Given the description of an element on the screen output the (x, y) to click on. 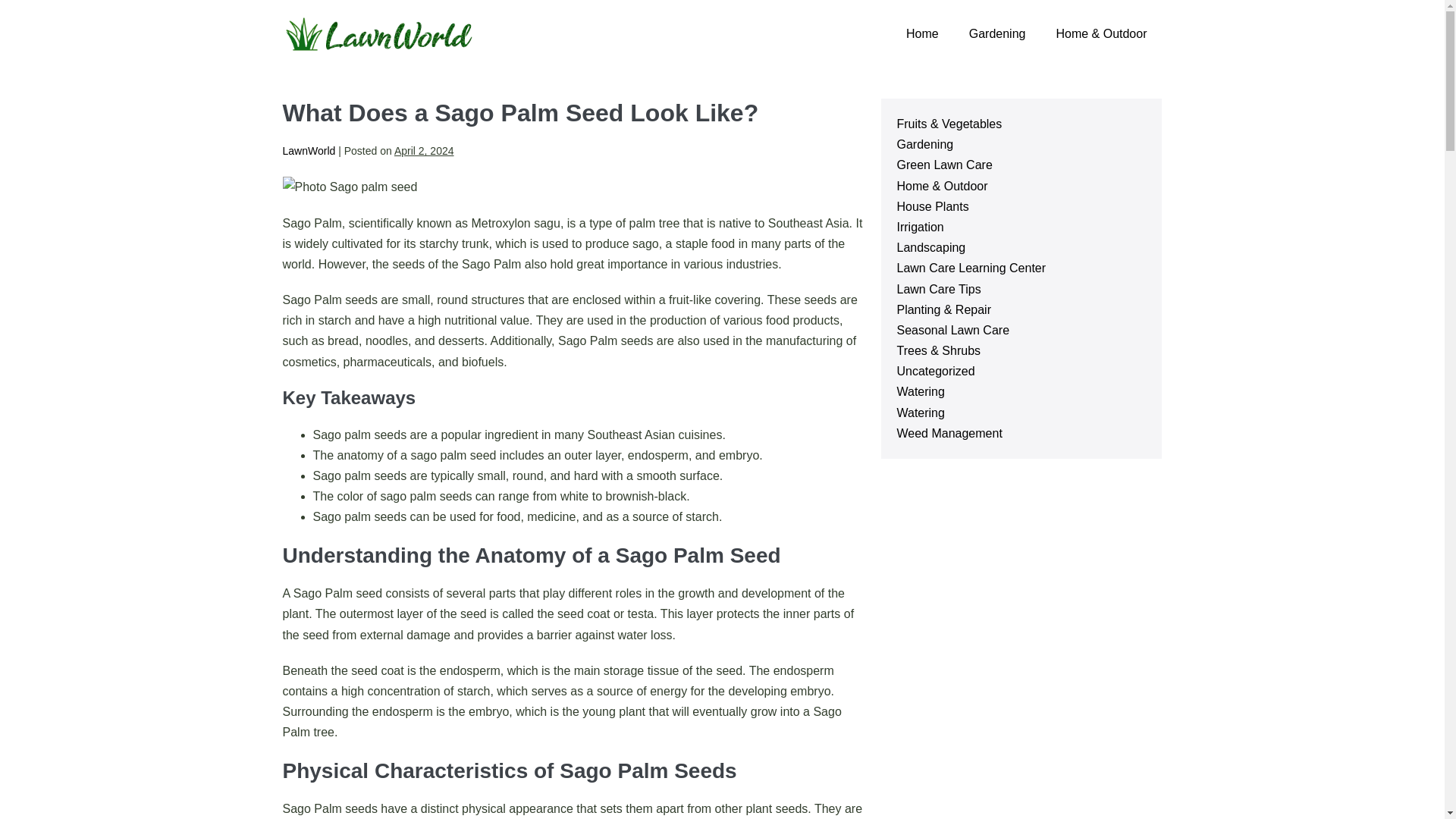
Lawn Care Tips (937, 287)
LawnWorld (308, 150)
House Plants (932, 205)
Gardening (997, 33)
Seasonal Lawn Care (952, 329)
Lawn Care Learning Center (970, 267)
View all posts by LawnWorld (308, 150)
Uncategorized (935, 370)
Landscaping (930, 246)
Watering (919, 391)
